Given the description of an element on the screen output the (x, y) to click on. 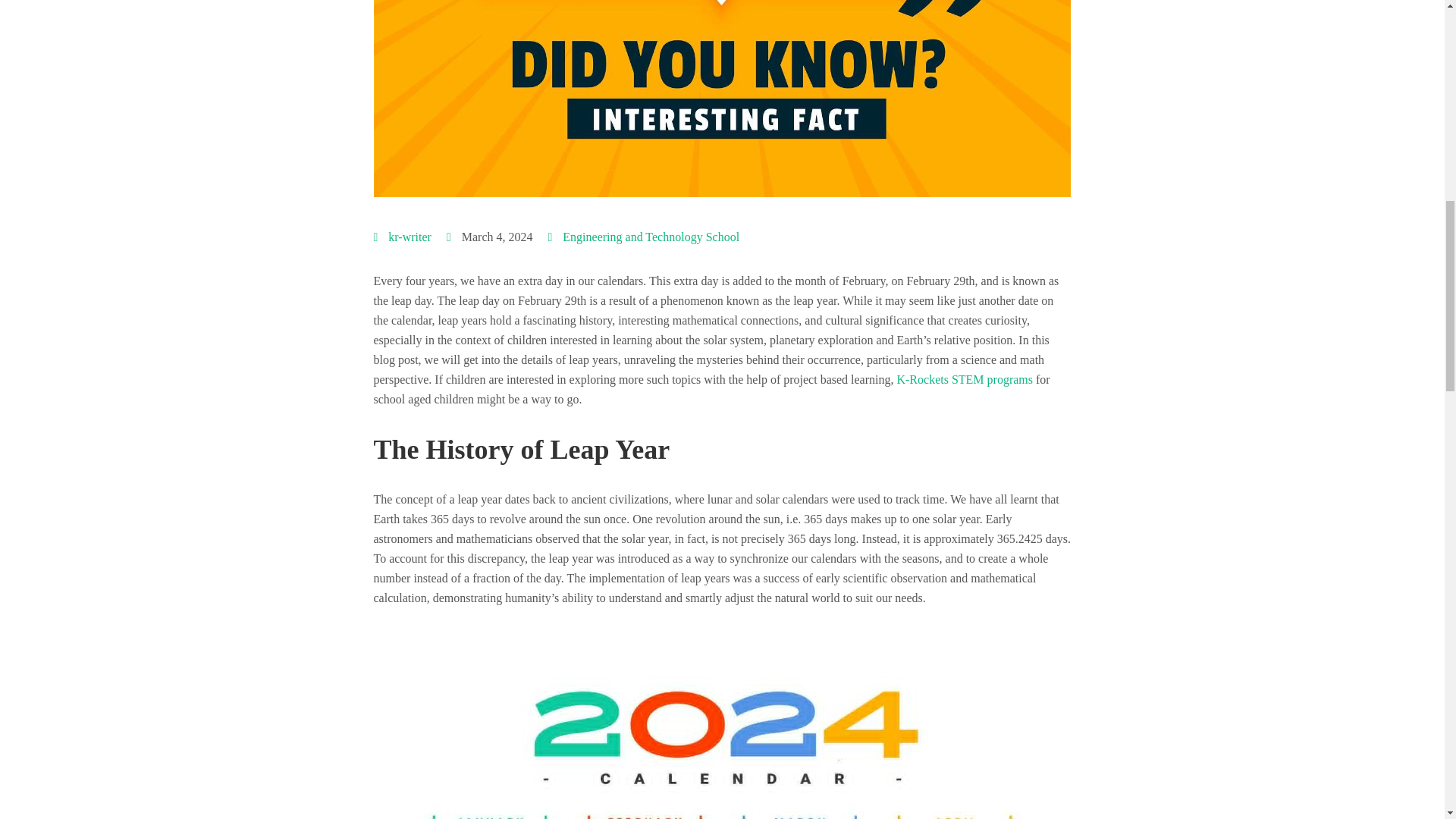
K-Rockets STEM programs (964, 379)
kr-writer (409, 236)
Engineering and Technology School (650, 236)
